Given the description of an element on the screen output the (x, y) to click on. 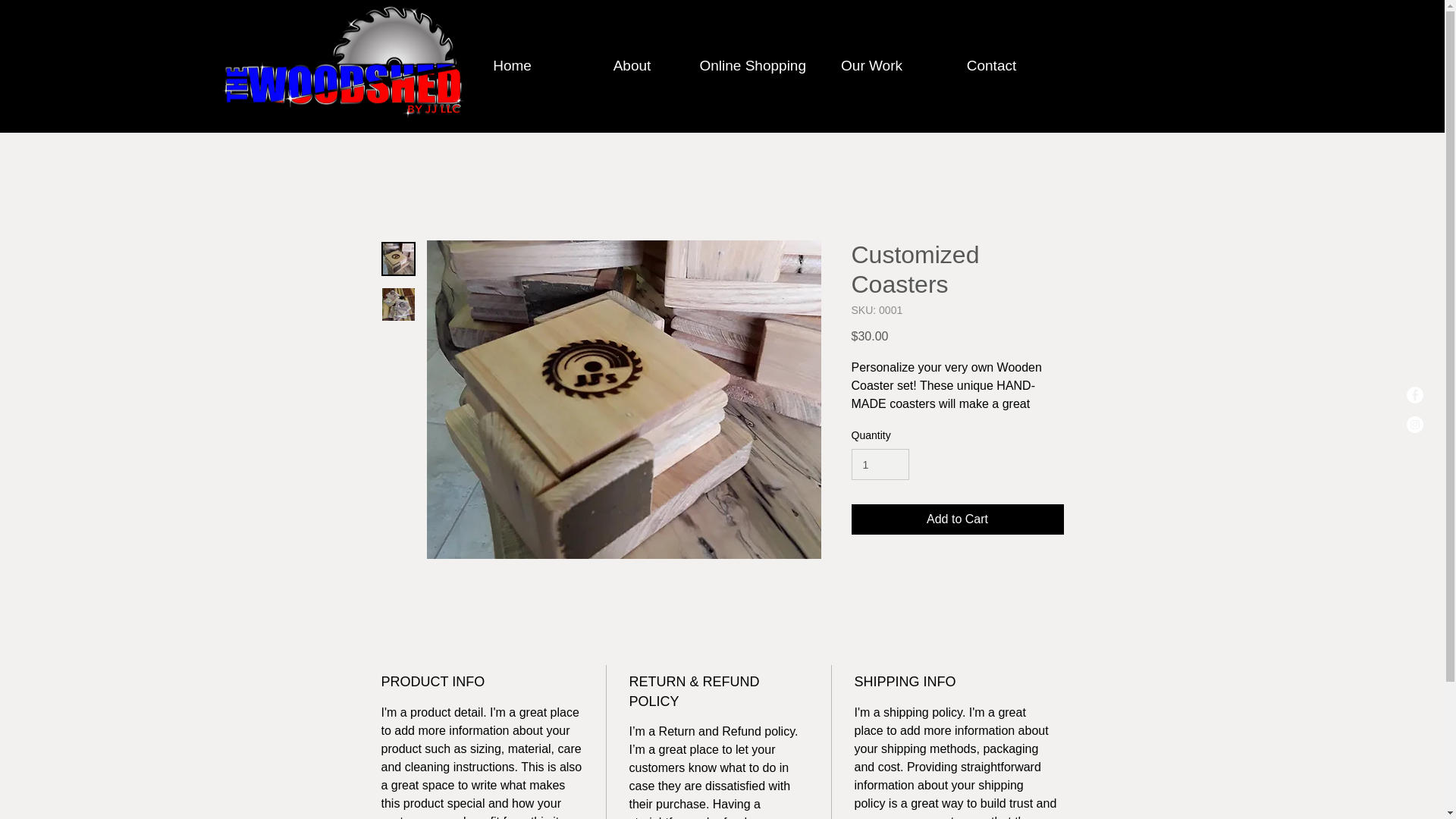
About (631, 65)
Our Work (870, 65)
1 (879, 463)
Online Shopping (750, 65)
Contact (991, 65)
Home (511, 65)
Add to Cart (956, 519)
